Given the description of an element on the screen output the (x, y) to click on. 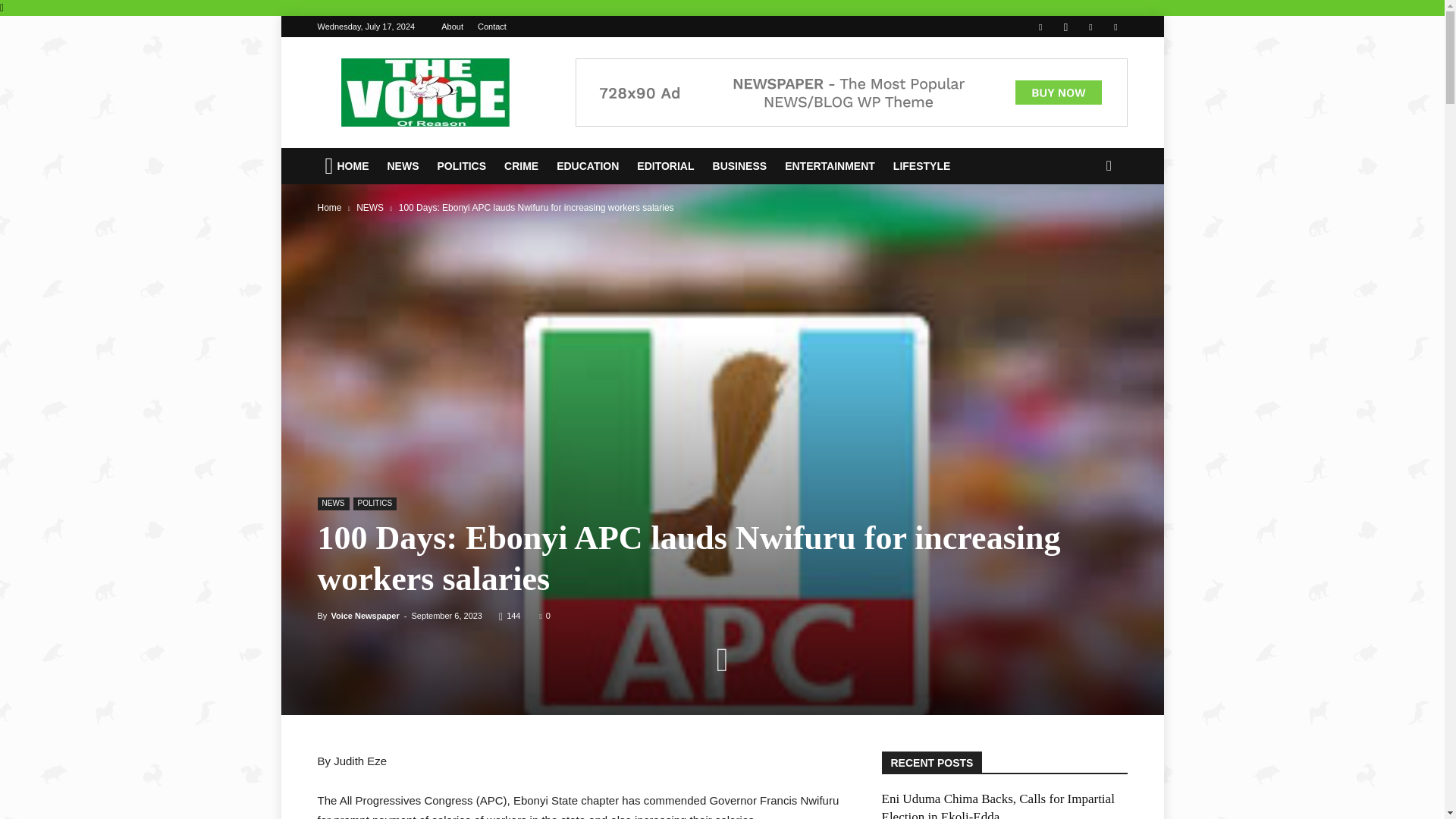
LIFESTYLE (922, 166)
NEWS (403, 166)
EDUCATION (588, 166)
POLITICS (462, 166)
Home (328, 207)
Twitter (1090, 25)
About (452, 26)
Instagram (1065, 25)
Contact (491, 26)
ENTERTAINMENT (831, 166)
CRIME (522, 166)
Search (1085, 226)
Youtube (1114, 25)
